Given the description of an element on the screen output the (x, y) to click on. 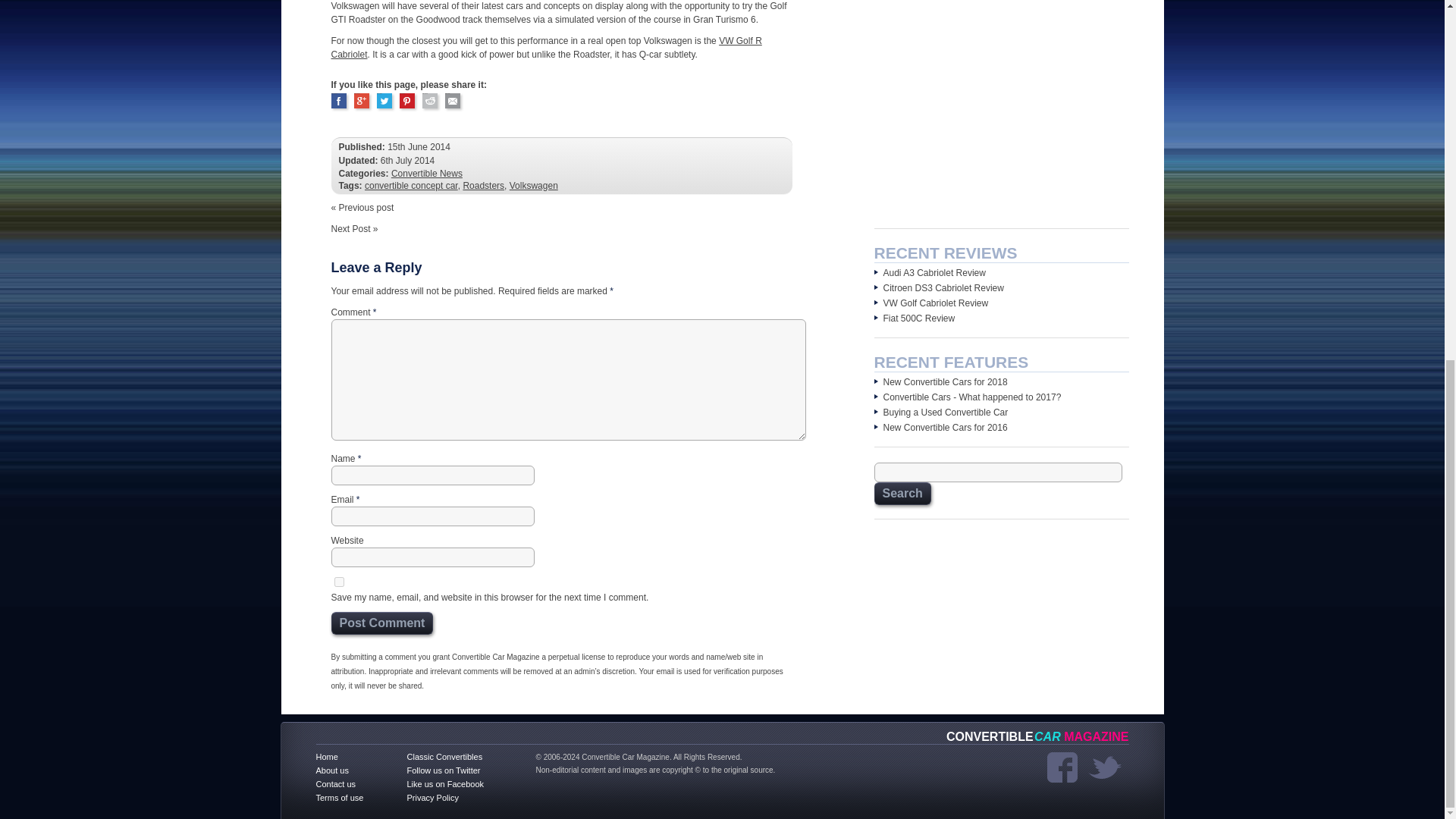
Share by Email (452, 100)
Post Comment (381, 622)
Volkswagen (533, 185)
Pin it on Pintrest (405, 100)
Citroen DS3 Cabriolet Review (942, 287)
Share on Reddit (429, 100)
Convertible News (427, 173)
2014-07-06 (406, 160)
Share on Reddit (429, 100)
2014-06-15 (418, 146)
